Given the description of an element on the screen output the (x, y) to click on. 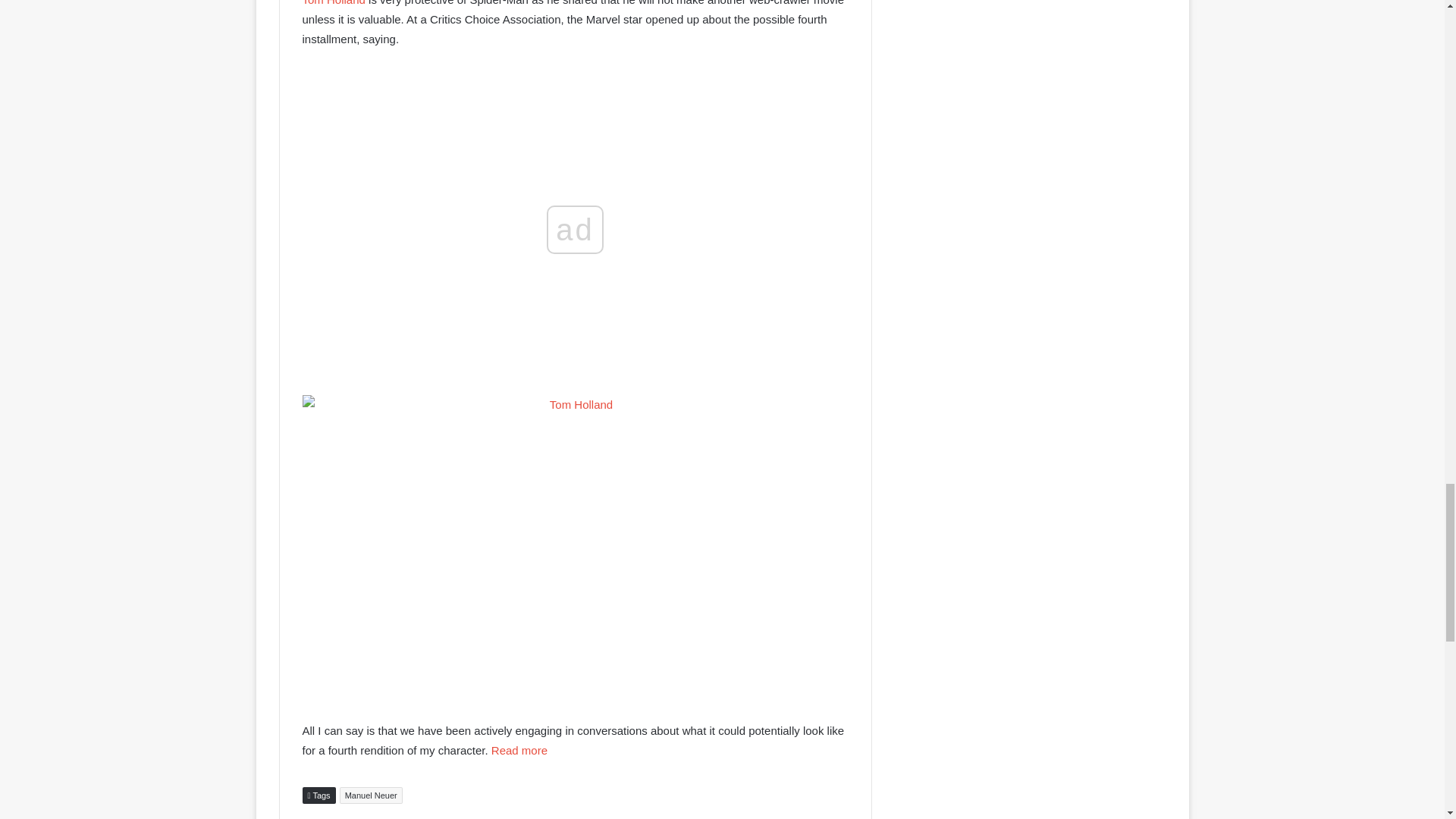
Read more (519, 749)
Manuel Neuer (371, 795)
Tom Holland (333, 2)
